Given the description of an element on the screen output the (x, y) to click on. 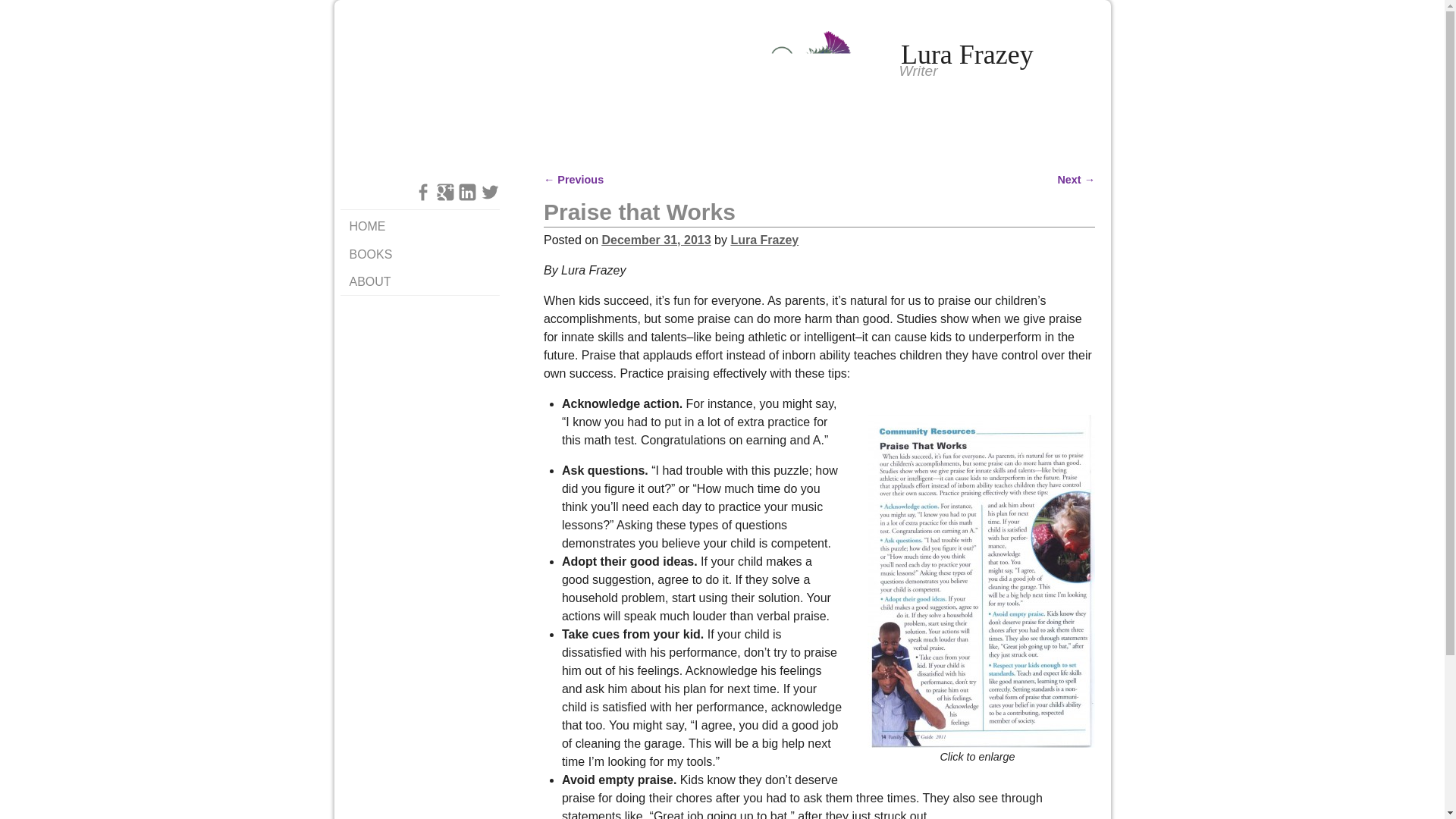
BOOKS (419, 253)
Twitter (489, 189)
LinkedIn: Professional contact information (467, 189)
ABOUT (419, 281)
Lura Frazey (966, 54)
View all posts by Lura Frazey (763, 239)
December 31, 2013 (655, 239)
3:44 pm (655, 239)
Facebook: social networking (422, 189)
HOME (419, 226)
